Given the description of an element on the screen output the (x, y) to click on. 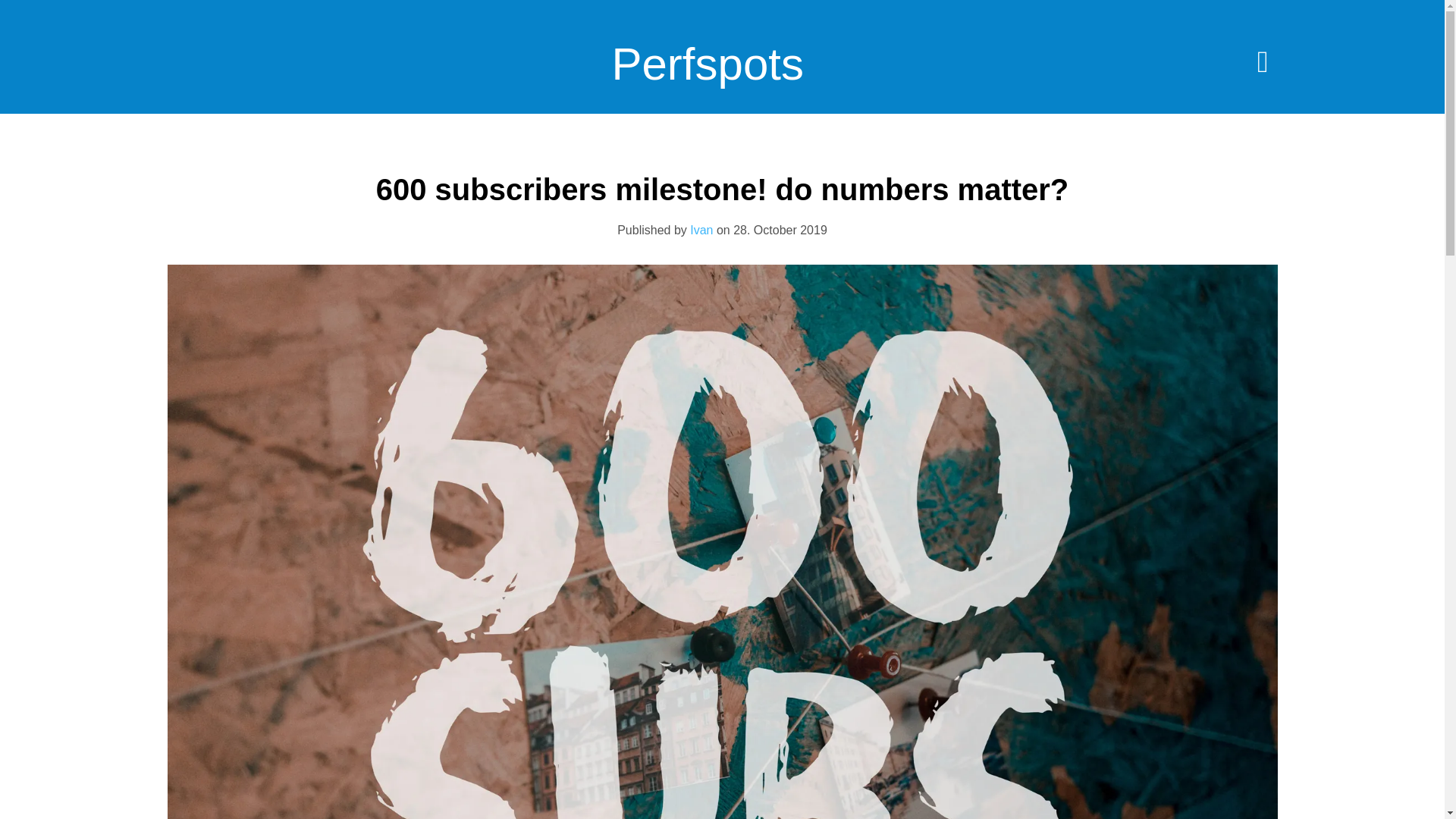
Perfspots (707, 74)
Perfspots (707, 74)
600 subscribers milestone! do numbers matter? (721, 189)
Ivan (701, 229)
